Given the description of an element on the screen output the (x, y) to click on. 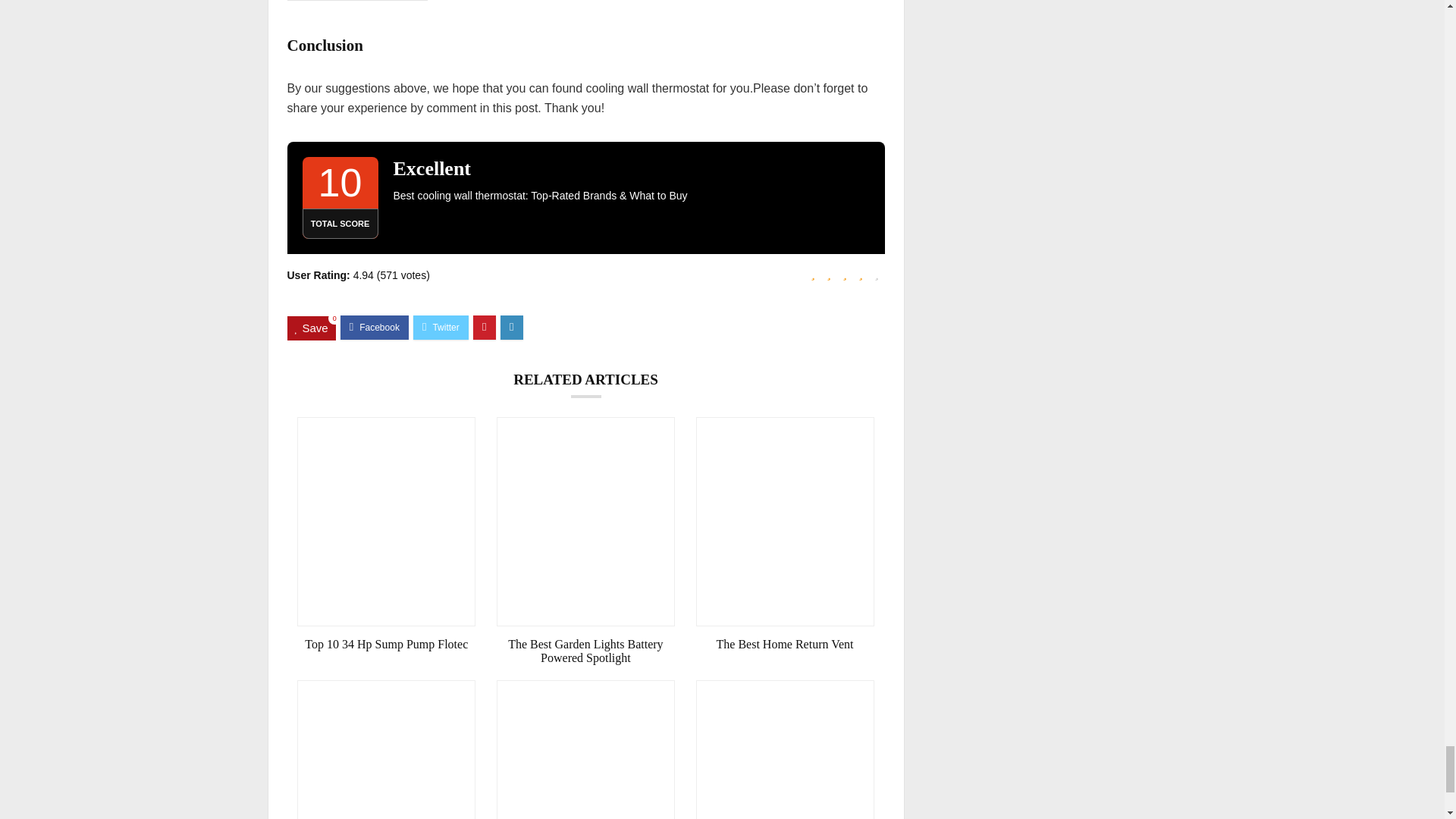
Top 10 34 Hp Sump Pump Flotec (386, 644)
The Best Garden Lights Battery Powered Spotlight (585, 651)
The Best Home Return Vent (785, 644)
